Given the description of an element on the screen output the (x, y) to click on. 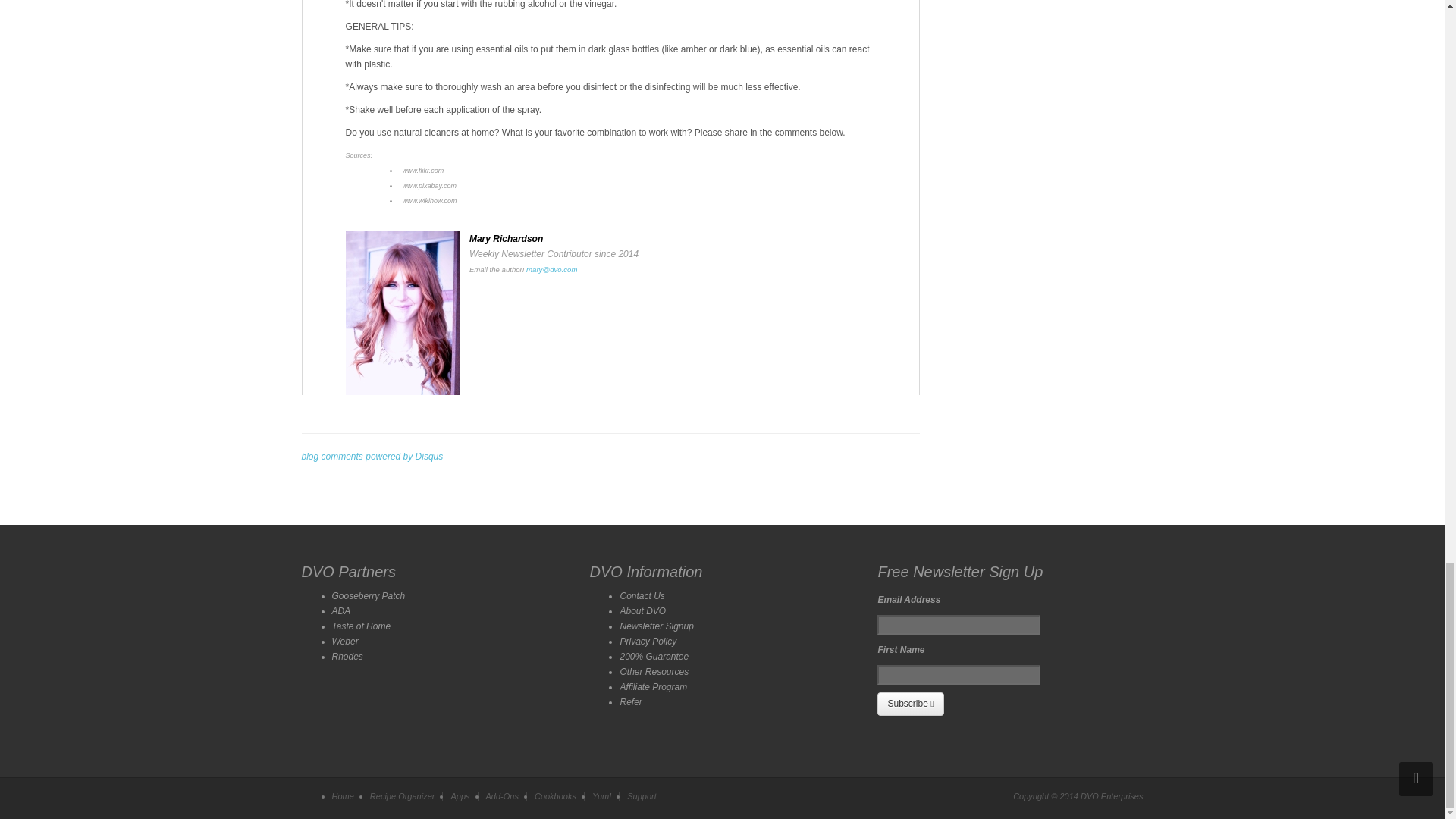
blog comments powered by Disqus (372, 456)
